Given the description of an element on the screen output the (x, y) to click on. 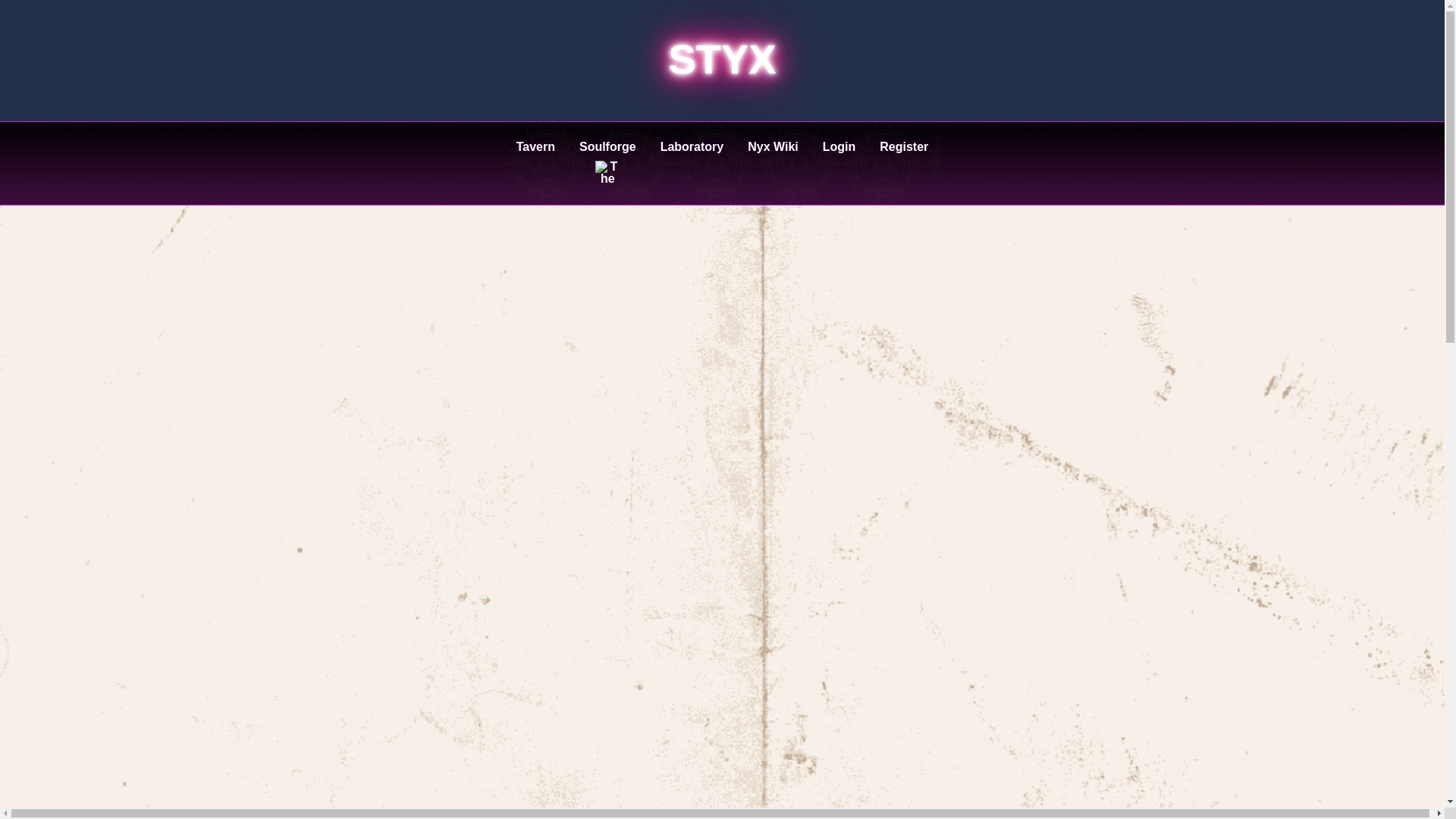
STYX (722, 59)
Laboratory (691, 163)
Soulforge (607, 163)
Nyx Wiki (772, 163)
